Given the description of an element on the screen output the (x, y) to click on. 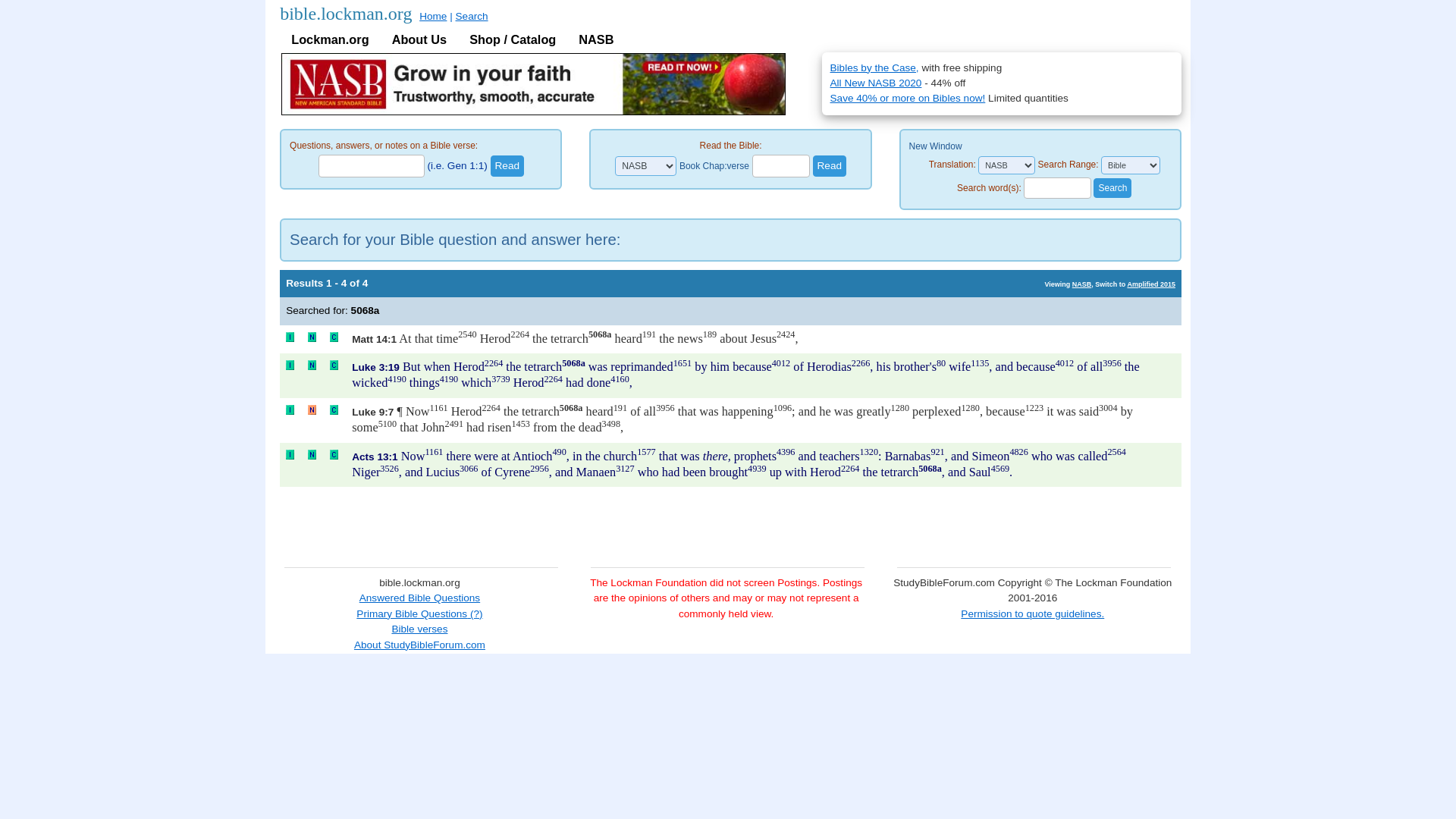
Book Chap:verse (714, 165)
Read (506, 165)
Search (471, 16)
About Us (419, 39)
All New NASB 2020 (875, 82)
Read (506, 165)
Search (1112, 188)
NASB (1081, 284)
Amplified 2015 (1150, 284)
NASB (595, 39)
